Given the description of an element on the screen output the (x, y) to click on. 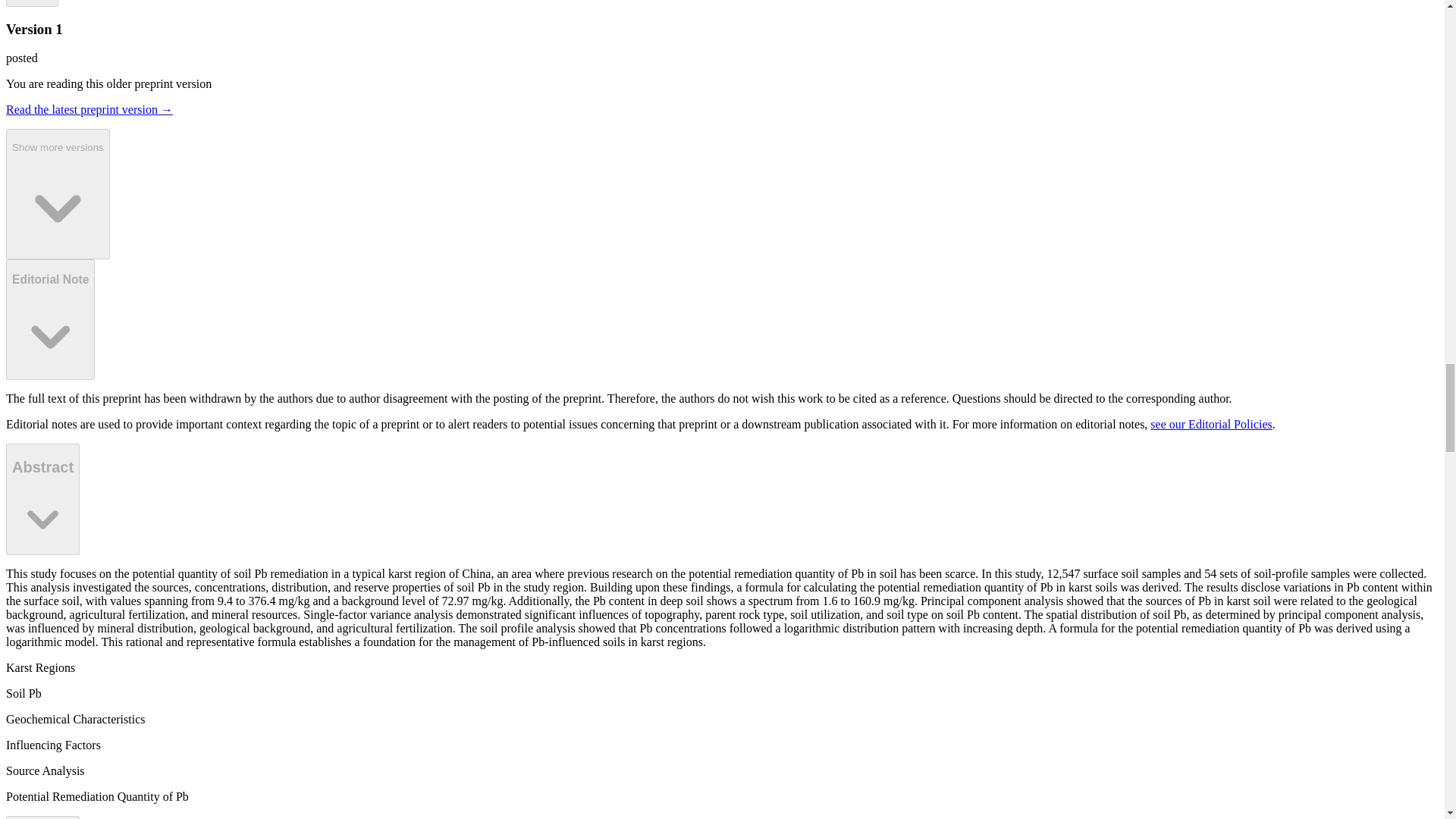
Full Text (42, 817)
see our Editorial Policies (1210, 423)
